Given the description of an element on the screen output the (x, y) to click on. 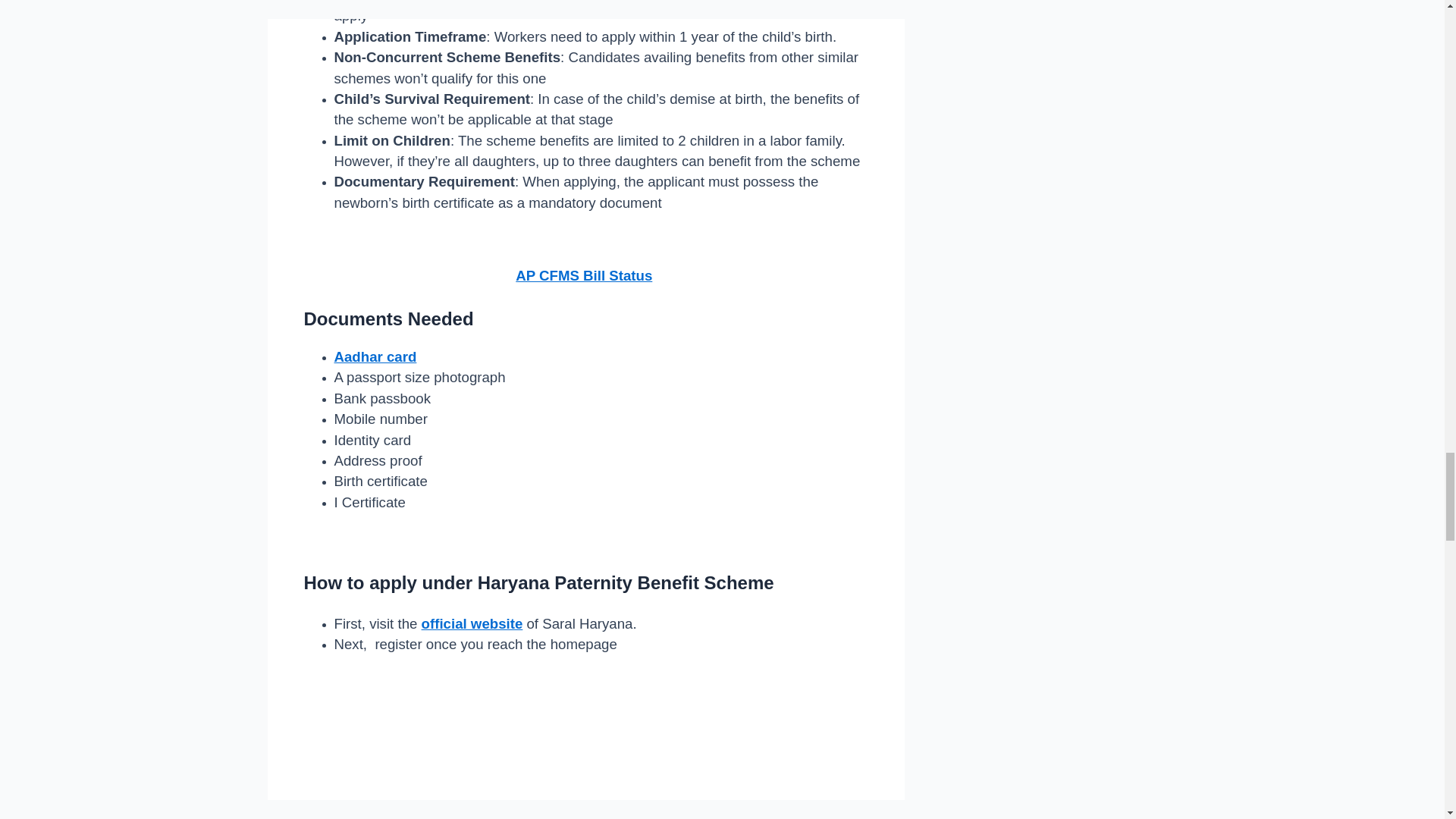
AP CFMS Bill Status (583, 275)
Aadhar card (374, 357)
official website (472, 623)
